Given the description of an element on the screen output the (x, y) to click on. 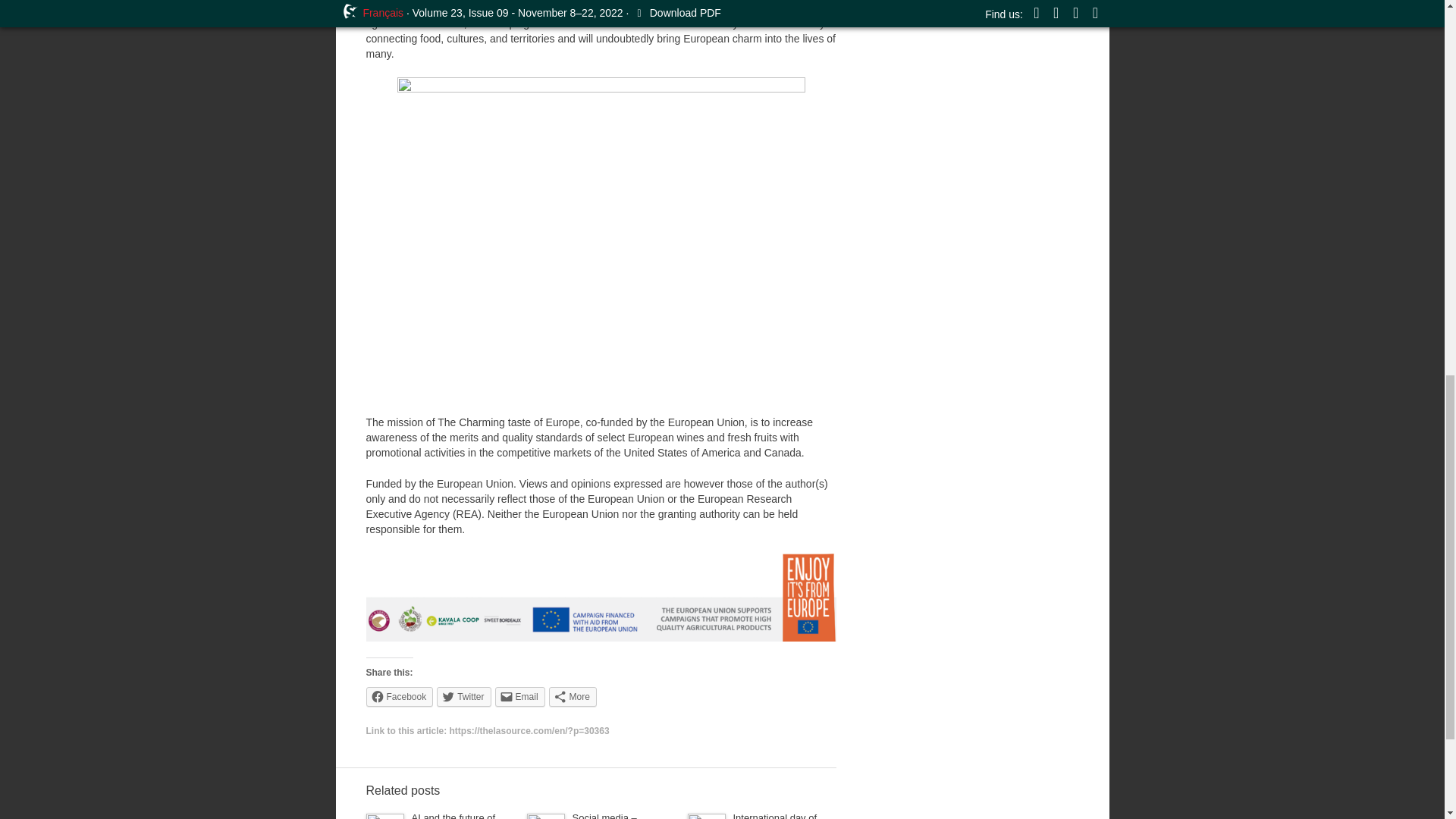
Click to share on Facebook (398, 696)
Click to email this to a friend (519, 696)
Click to share on Twitter (463, 696)
Link to this article (529, 730)
Permalink to International day of persons with disabilities (774, 815)
Permalink to AI and the future of shopping (452, 815)
